Given the description of an element on the screen output the (x, y) to click on. 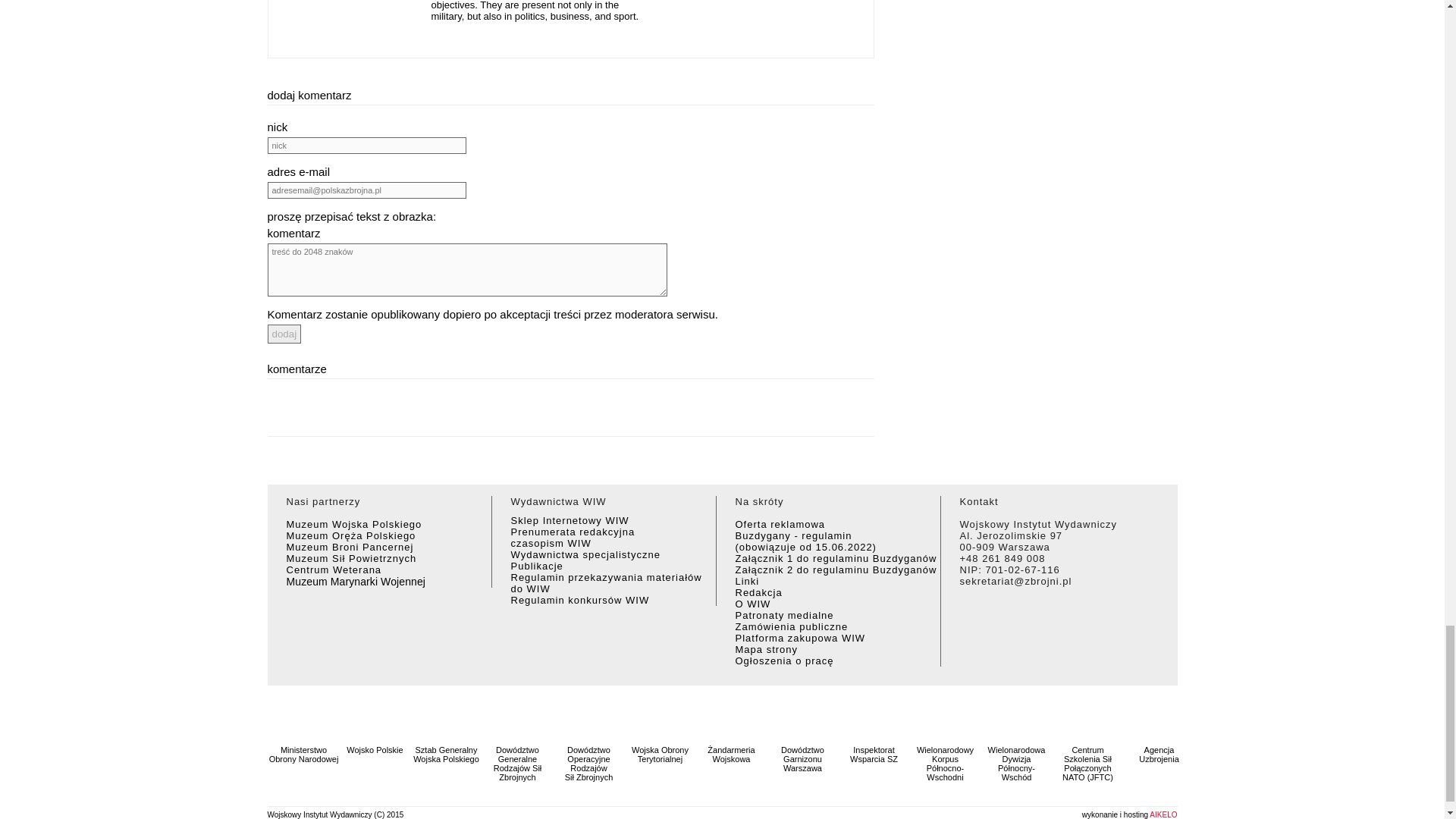
dodaj (283, 333)
